Given the description of an element on the screen output the (x, y) to click on. 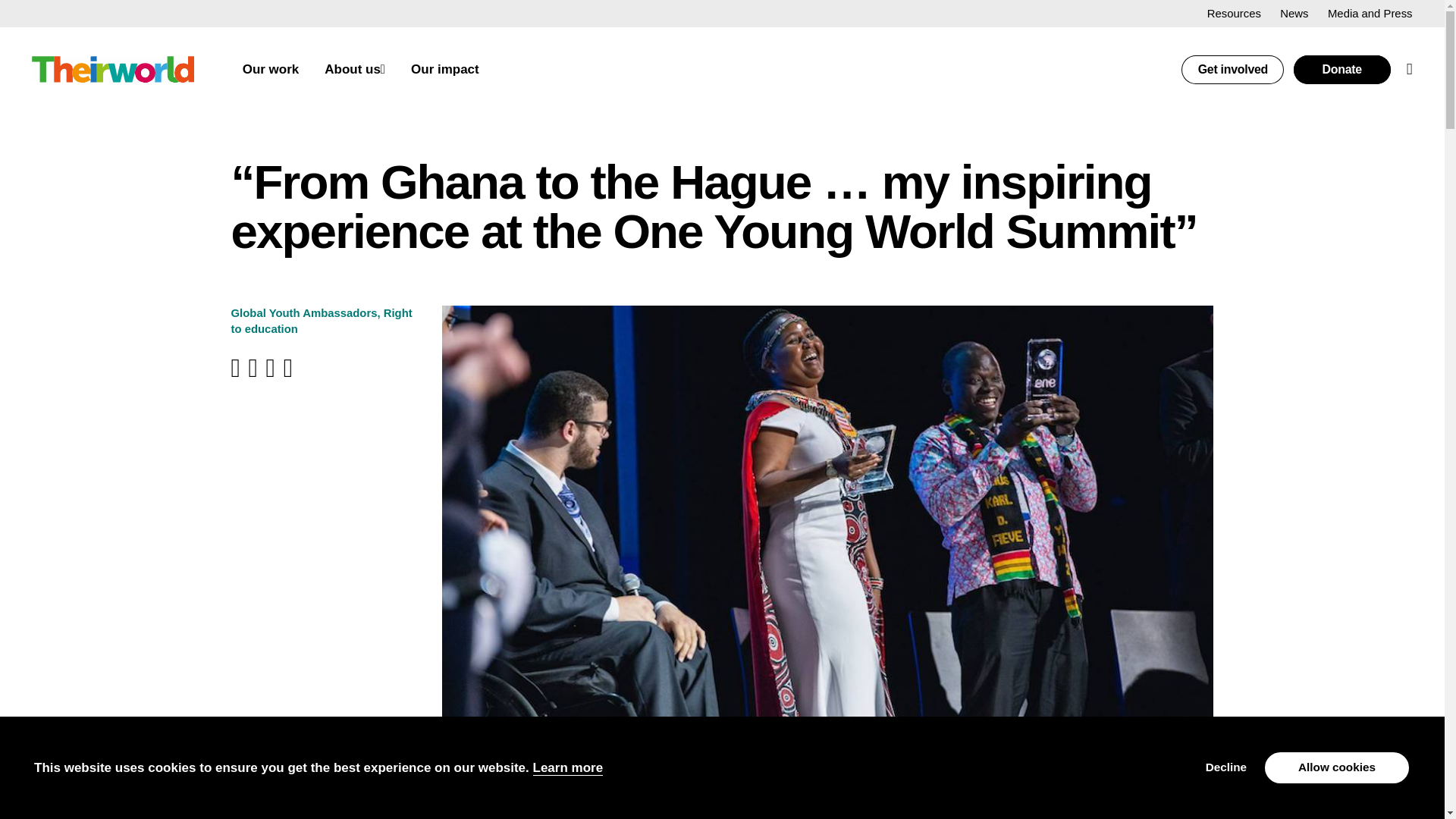
About us (352, 69)
Our work (271, 69)
News (1293, 13)
Get involved (1232, 69)
Allow cookies (1336, 767)
Learn more (568, 767)
Our impact (444, 69)
Decline (1225, 767)
Resources (1233, 13)
Donate (1342, 69)
